Given the description of an element on the screen output the (x, y) to click on. 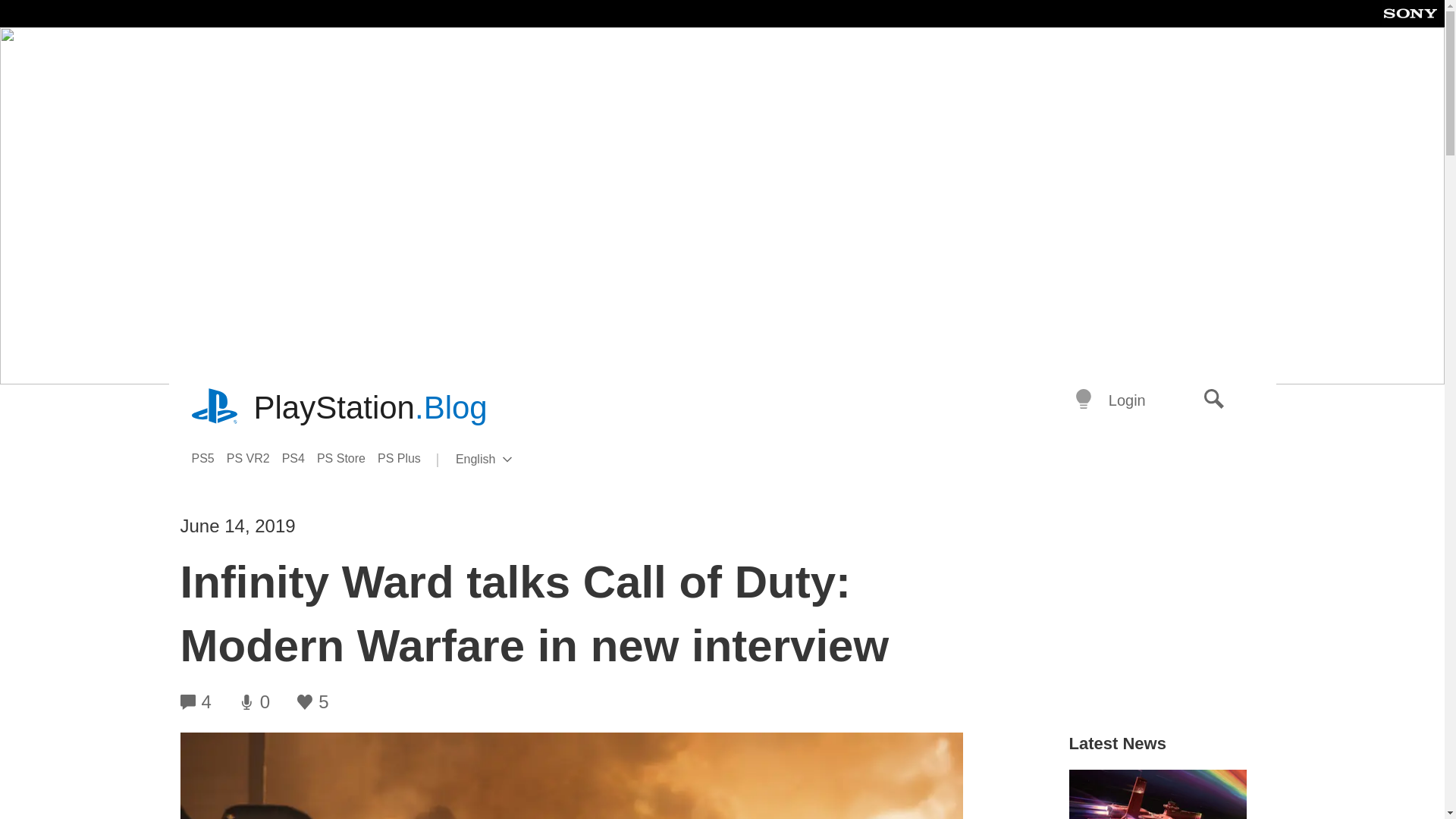
Login (1126, 400)
PS4 (299, 458)
PS5 (207, 458)
PS Plus (508, 459)
playstation.com (404, 458)
Search (215, 408)
PlayStation.Blog (1214, 400)
Skip to content (369, 407)
